Given the description of an element on the screen output the (x, y) to click on. 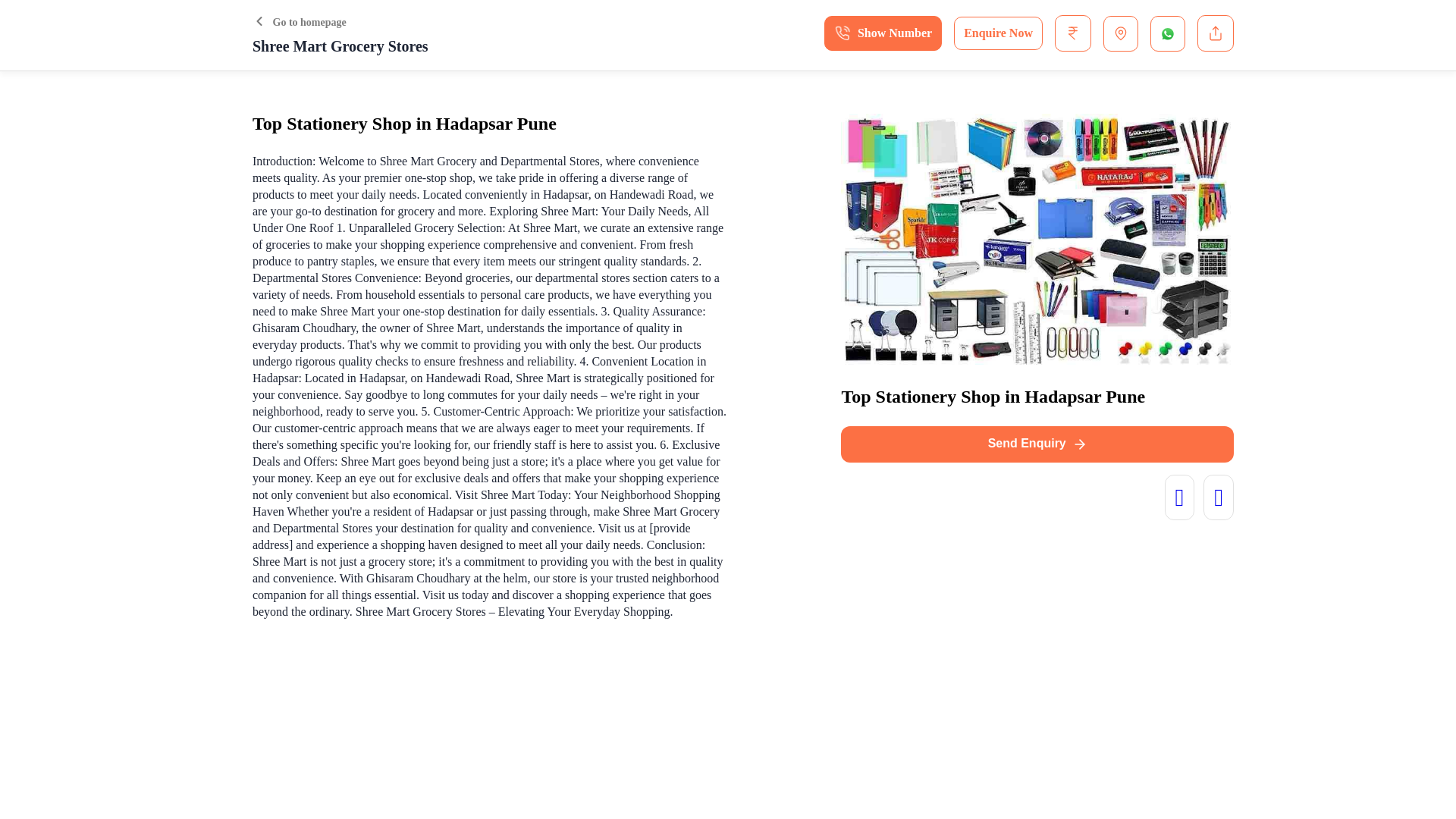
Show Number (883, 32)
Go to homepage (298, 21)
Send Enquiry (1037, 443)
Enquire Now (997, 32)
